Given the description of an element on the screen output the (x, y) to click on. 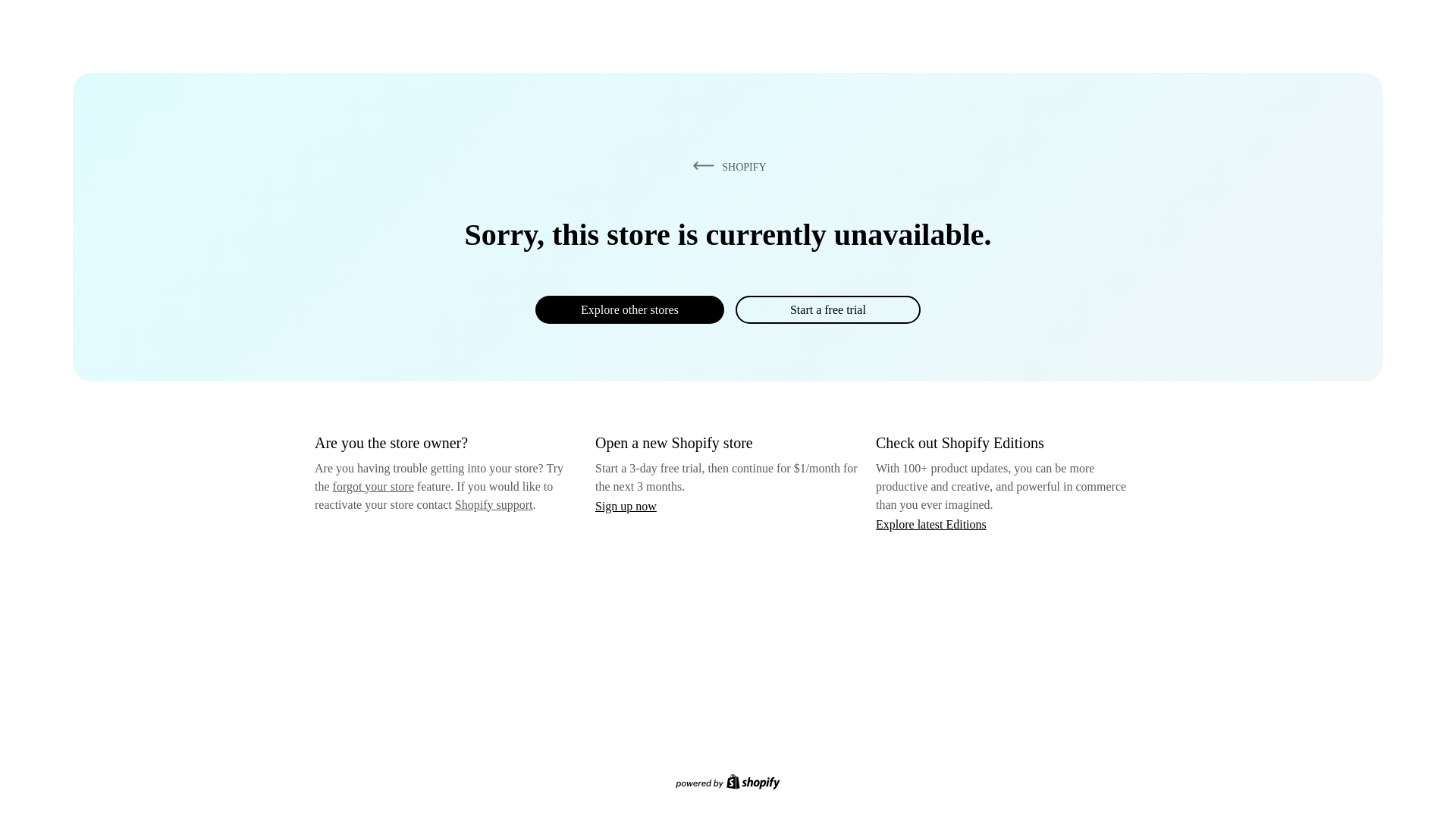
Start a free trial (827, 309)
Explore latest Editions (931, 523)
SHOPIFY (726, 166)
Shopify support (493, 504)
Explore other stores (629, 309)
forgot your store (373, 486)
Sign up now (625, 505)
